Given the description of an element on the screen output the (x, y) to click on. 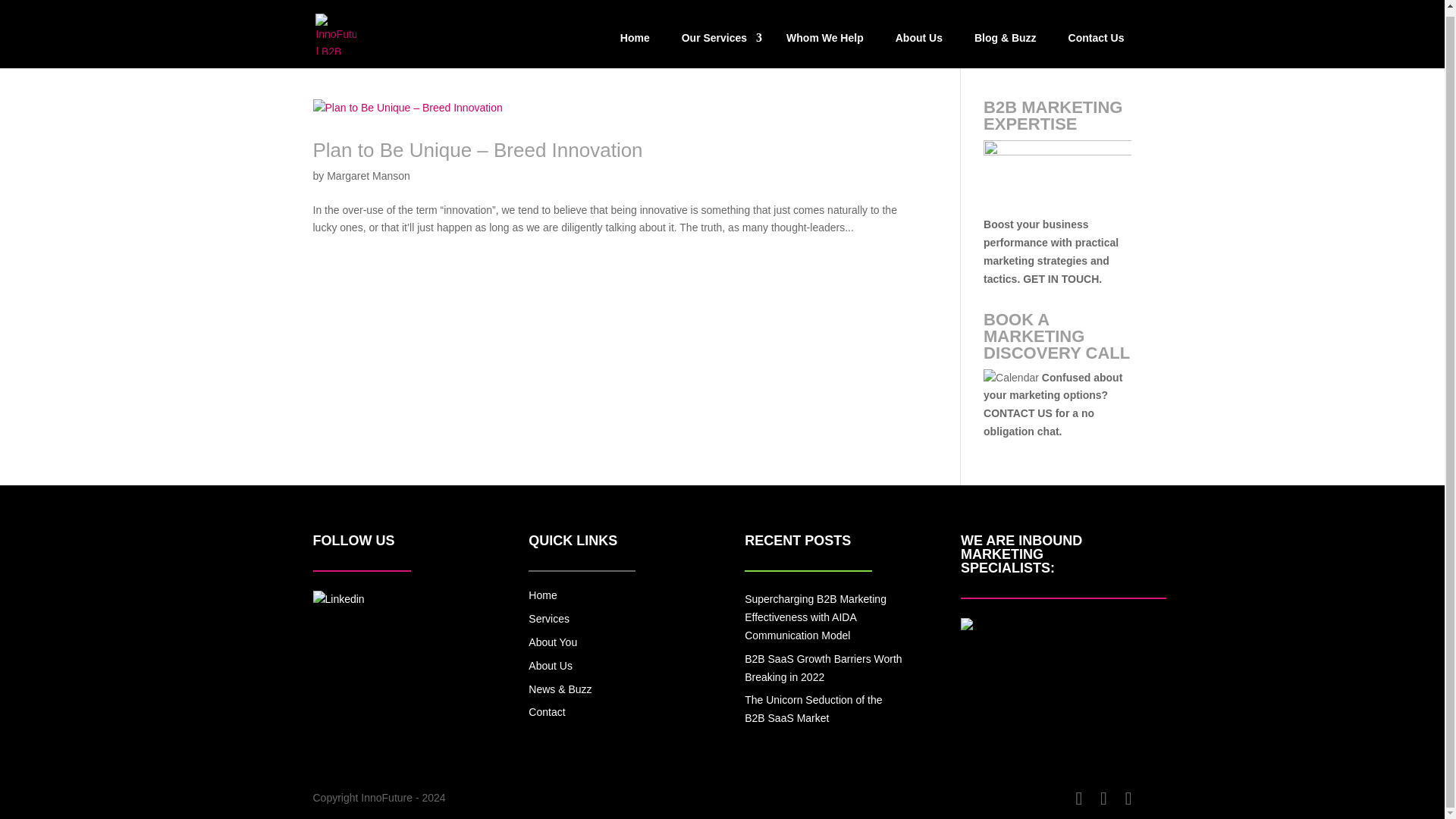
Home (542, 594)
The Unicorn Seduction of the B2B SaaS Market (813, 708)
About Us (550, 665)
Posts by Margaret Manson (368, 175)
About You (552, 642)
Services (548, 618)
B2B SaaS Growth Barriers Worth Breaking in 2022 (822, 667)
Margaret Manson (368, 175)
Inbound (966, 625)
